Given the description of an element on the screen output the (x, y) to click on. 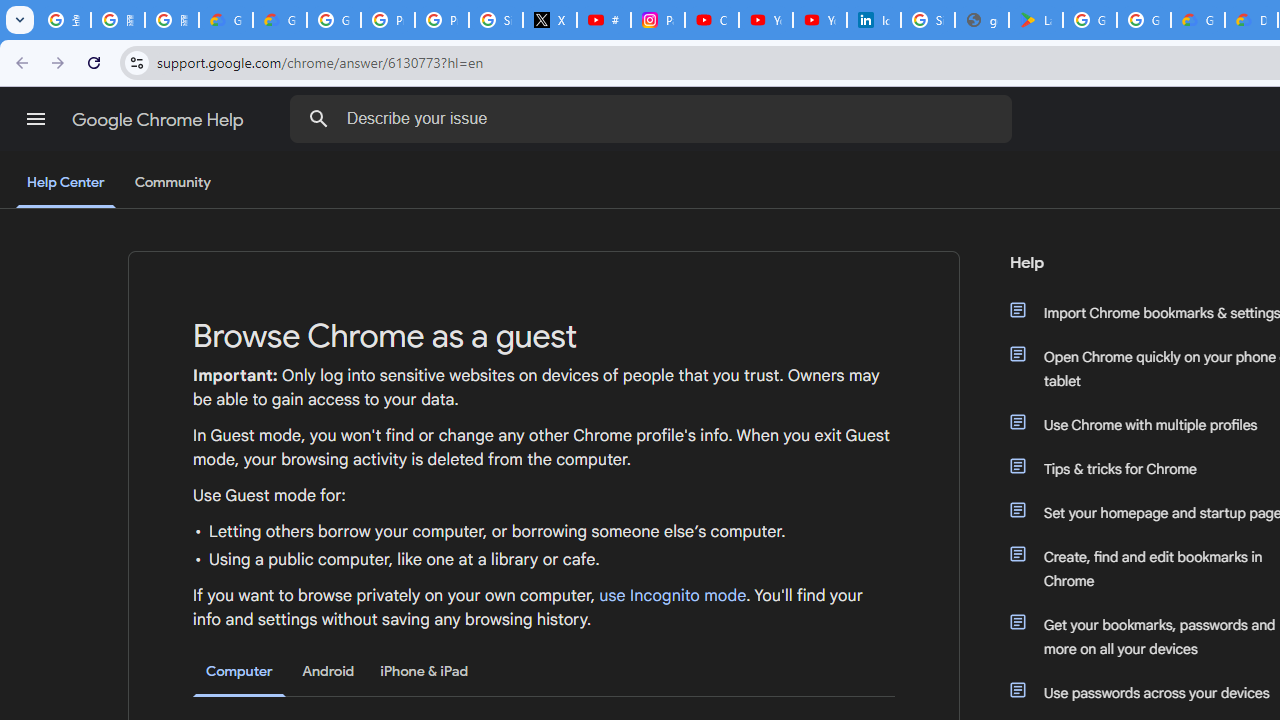
Search Help Center (318, 118)
google_privacy_policy_en.pdf (981, 20)
Google Cloud Privacy Notice (225, 20)
Google Cloud Privacy Notice (280, 20)
Privacy Help Center - Policies Help (387, 20)
Google Chrome Help (159, 119)
Community (171, 183)
Last Shelter: Survival - Apps on Google Play (1035, 20)
Privacy Help Center - Policies Help (441, 20)
Google Workspace - Specific Terms (1144, 20)
